Given the description of an element on the screen output the (x, y) to click on. 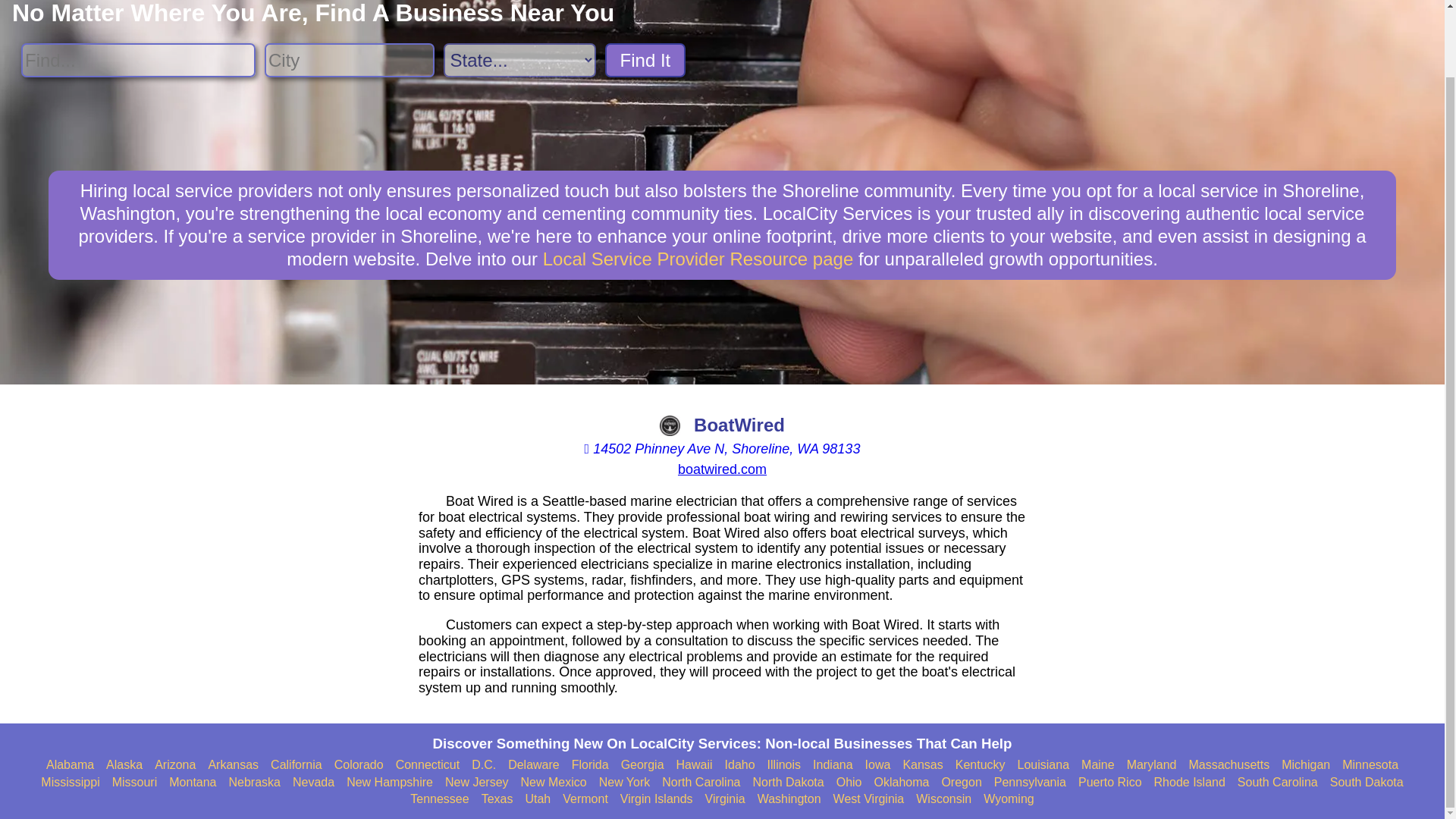
Iowa (877, 765)
Montana (191, 782)
Kentucky (980, 765)
boatwired.com (722, 468)
Visit boatwired.com (722, 468)
Find Businesses in Hawaii (695, 765)
Maryland (1151, 765)
Find It (645, 59)
Colorado (359, 765)
Local Service Provider Resource page (698, 258)
